Given the description of an element on the screen output the (x, y) to click on. 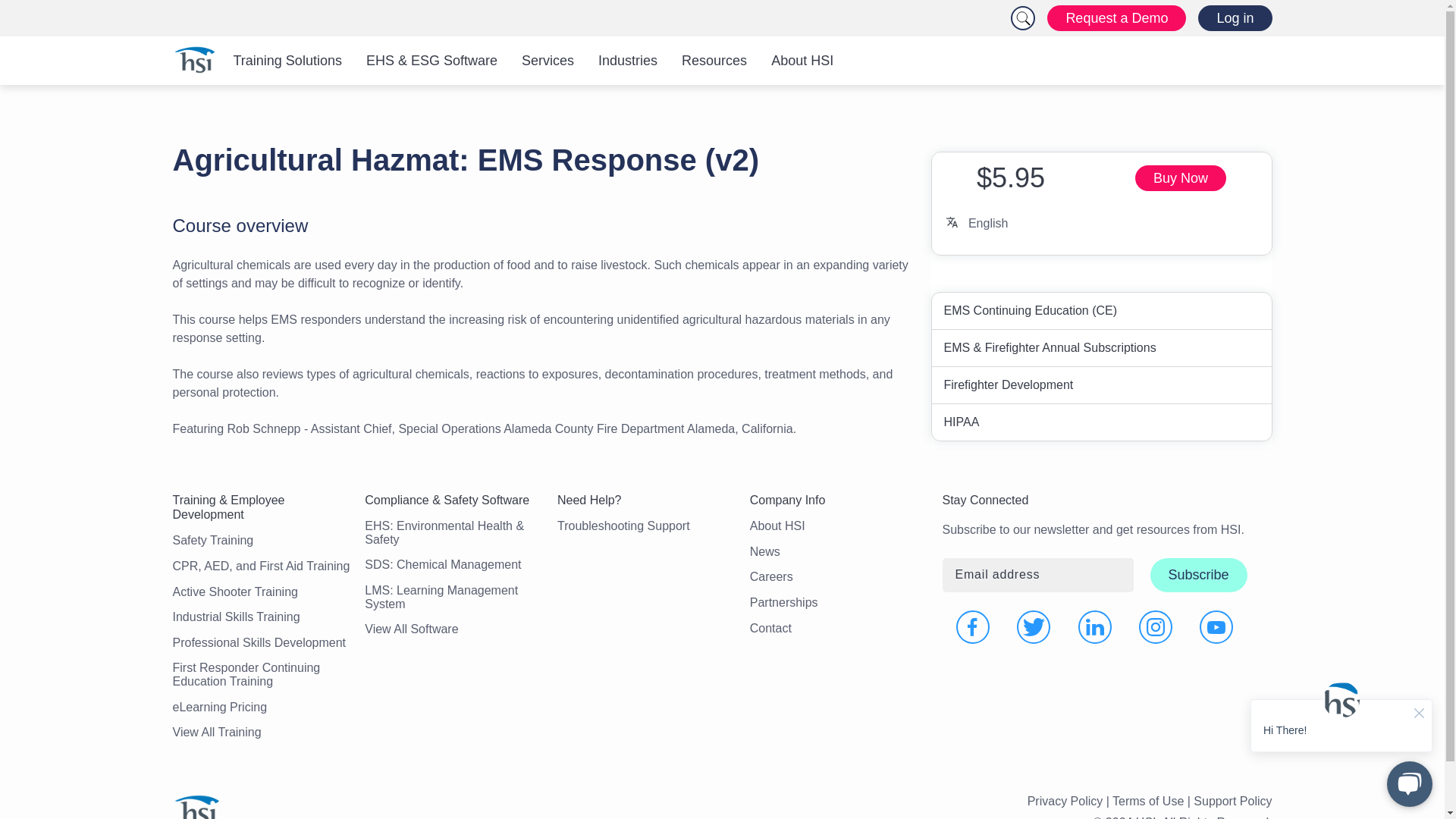
Opens in a new window (973, 626)
Request a Demo (1116, 17)
Opens in a new window (1180, 177)
Opens in a new window (1095, 626)
Opens in a new window (1216, 626)
Subscribe (1198, 574)
Log in (1234, 17)
Opens in a new window (1032, 626)
Opens in a new window (1155, 626)
Training Solutions (287, 60)
